Given the description of an element on the screen output the (x, y) to click on. 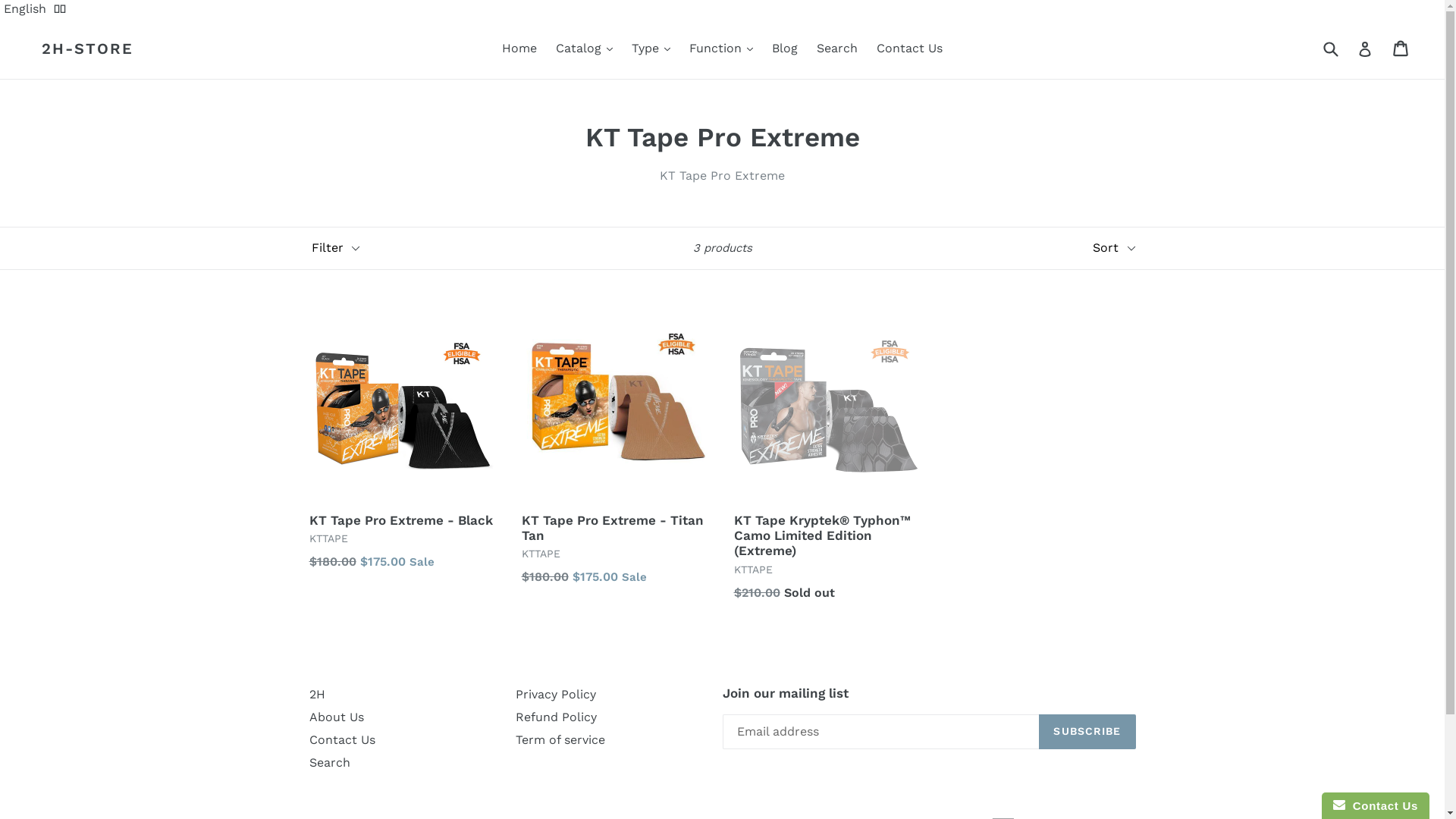
Contact Us Element type: text (342, 739)
English Element type: text (24, 8)
Contact Us Element type: text (909, 48)
Home Element type: text (519, 48)
Privacy Policy Element type: text (555, 694)
Log in Element type: text (1364, 48)
2H-STORE Element type: text (87, 48)
2H Element type: text (317, 694)
About Us Element type: text (336, 716)
Cart
Cart Element type: text (1401, 48)
Term of service Element type: text (560, 739)
SUBSCRIBE Element type: text (1086, 731)
Refund Policy Element type: text (555, 716)
Submit Element type: text (1329, 47)
Search Element type: text (837, 48)
Blog Element type: text (784, 48)
Search Element type: text (329, 762)
